Given the description of an element on the screen output the (x, y) to click on. 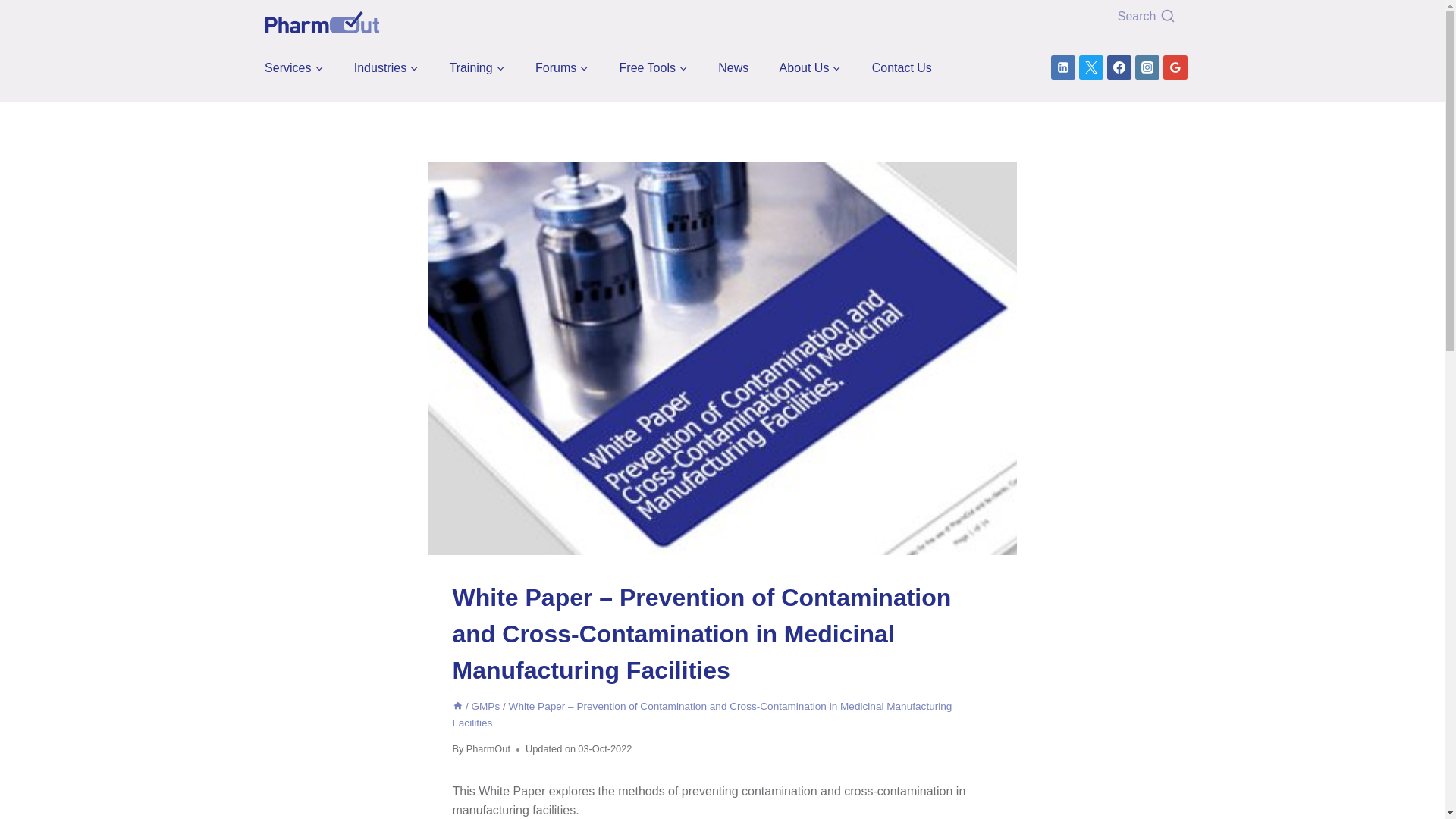
Free GMP tools (653, 67)
Industries (386, 67)
Services (294, 67)
Search (1080, 16)
GMP Training (477, 67)
Home (457, 706)
